Given the description of an element on the screen output the (x, y) to click on. 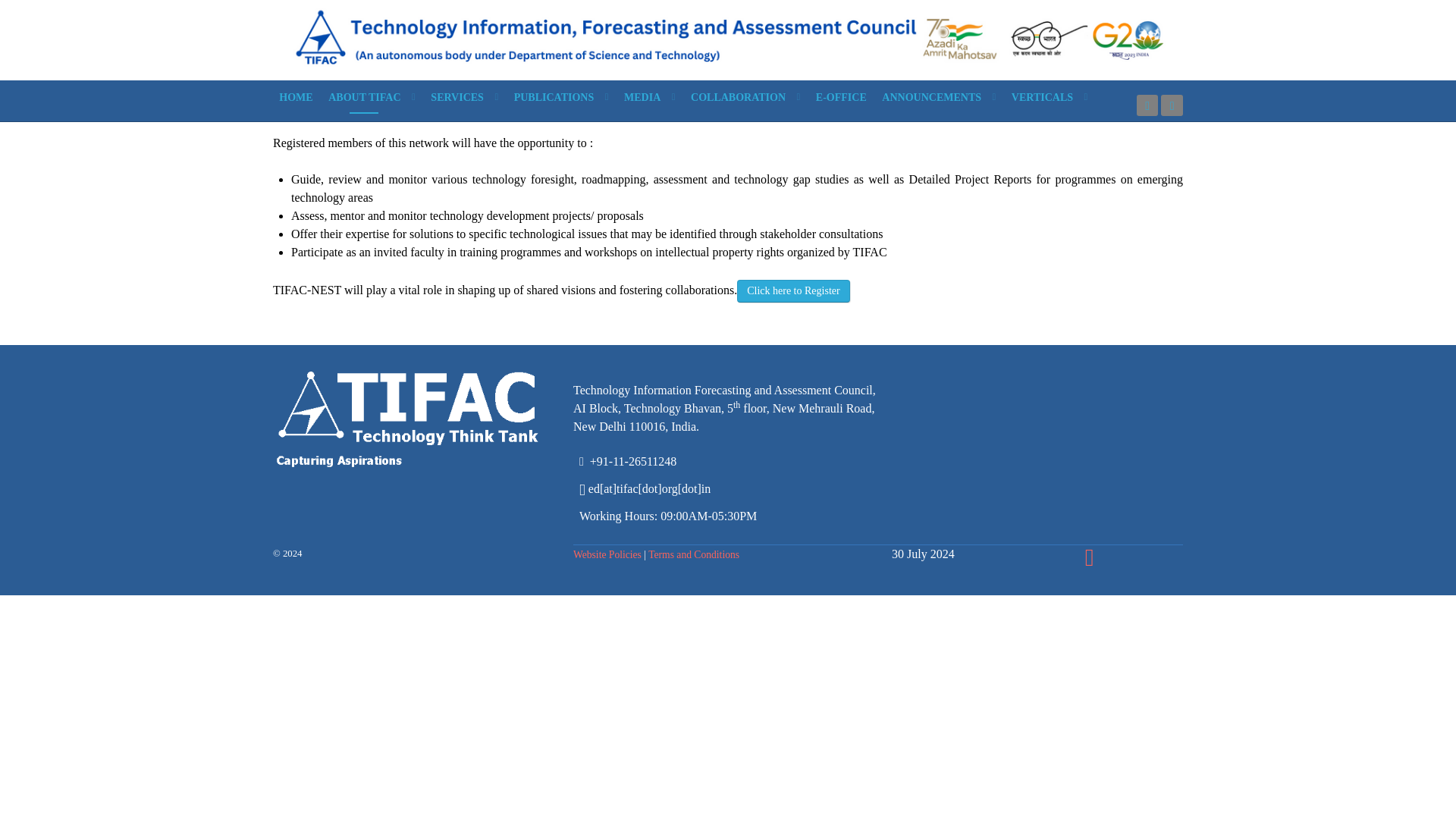
HOME (295, 97)
TIFAC (727, 38)
TIFAC (423, 418)
